Given the description of an element on the screen output the (x, y) to click on. 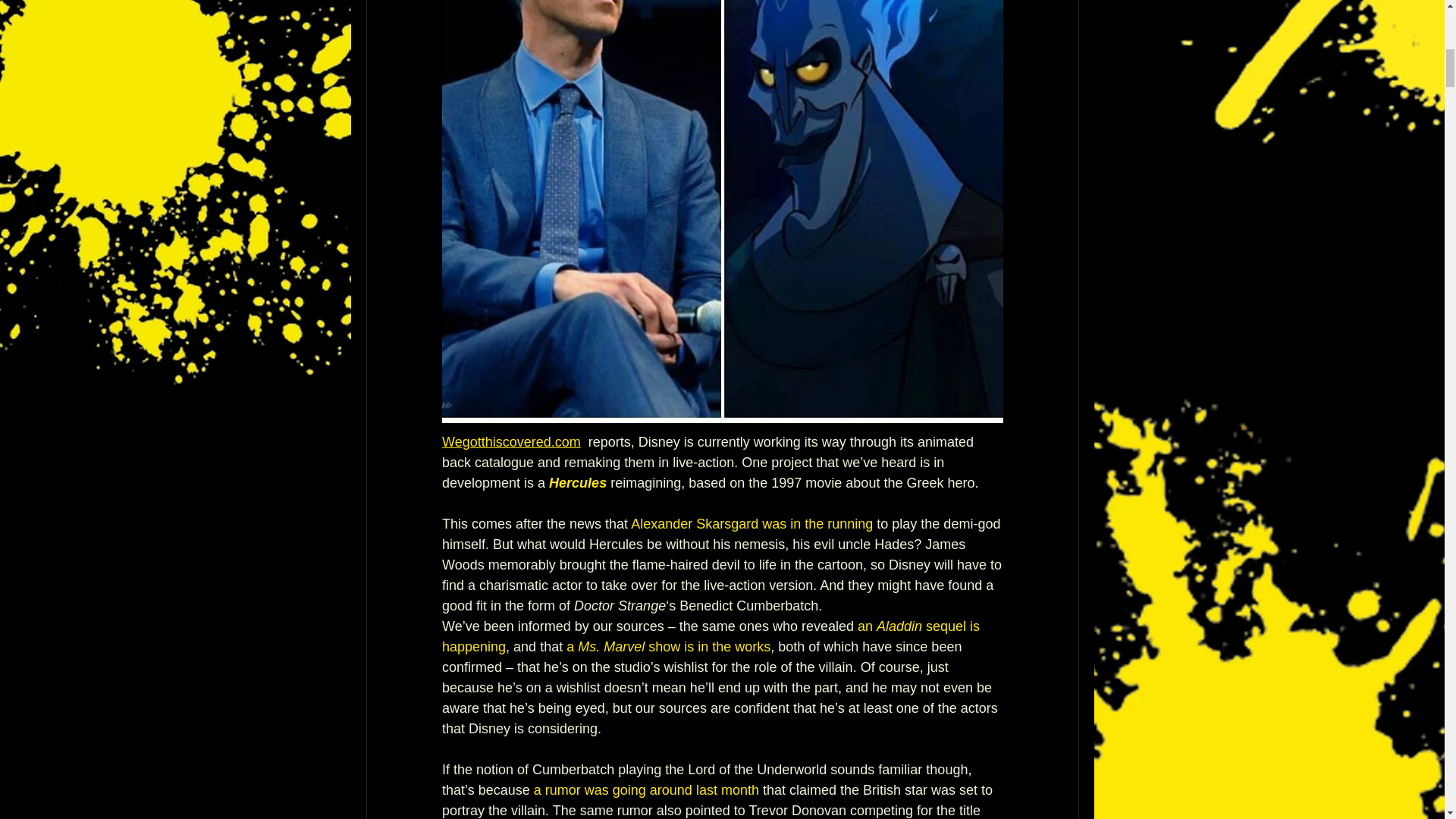
a rumor was going around last month (645, 789)
an  (866, 626)
Hercules (577, 482)
Alexander Skarsgard was in the running (751, 523)
sequel is happening (711, 636)
Ms. Marvel (611, 646)
Wegotthiscovered.com (510, 441)
Aladdin  (901, 626)
 show is in the works (707, 646)
